Given the description of an element on the screen output the (x, y) to click on. 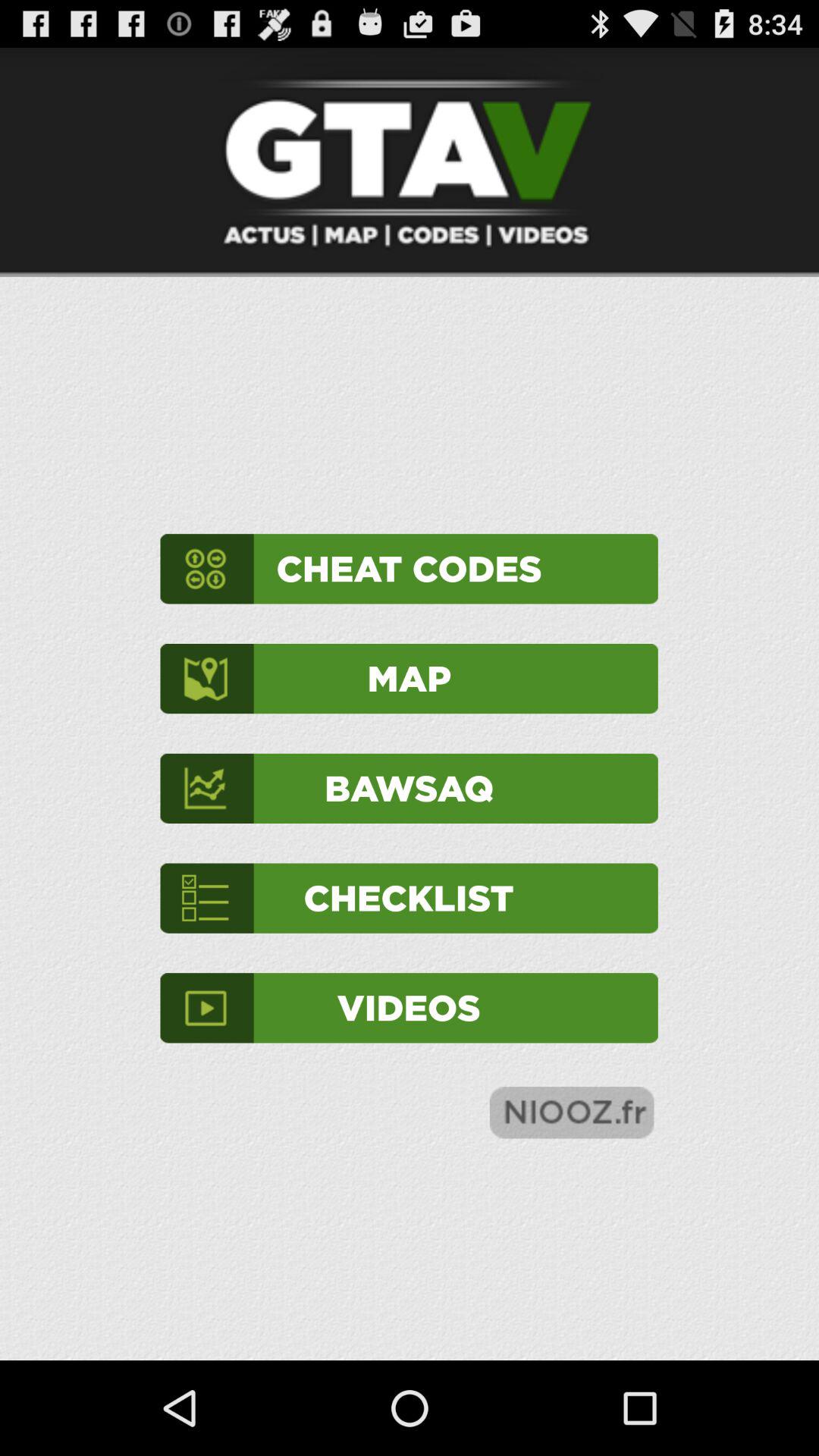
choose the cheat codes item (409, 569)
